Given the description of an element on the screen output the (x, y) to click on. 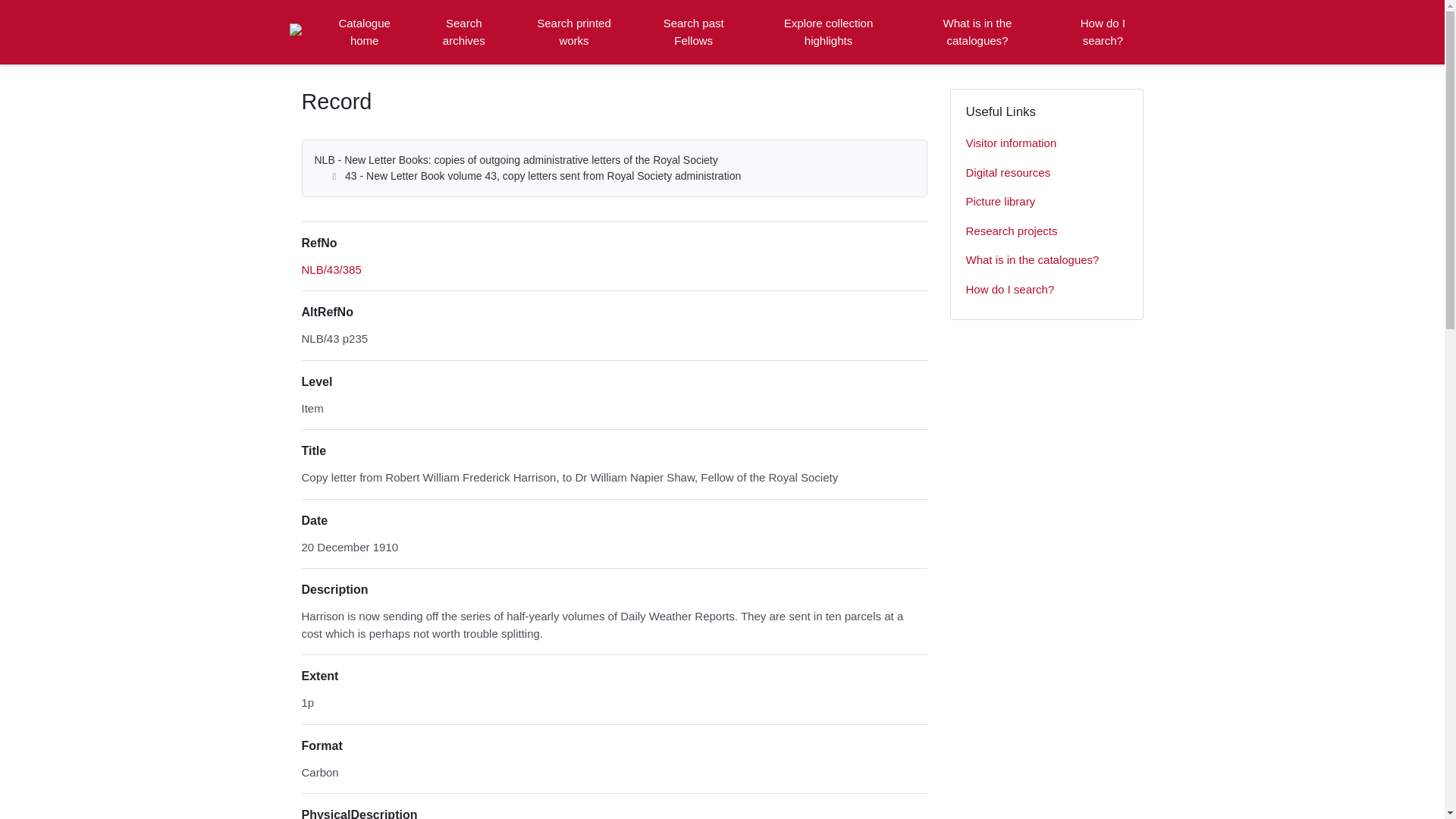
Search printed works (574, 32)
Explore collection highlights (828, 32)
Browse record in hierarchy. (331, 269)
What is in the catalogues? (1046, 260)
Visitor information (1046, 143)
Catalogue home (363, 32)
What is in the catalogues? (977, 32)
Digital resources (1046, 173)
